Given the description of an element on the screen output the (x, y) to click on. 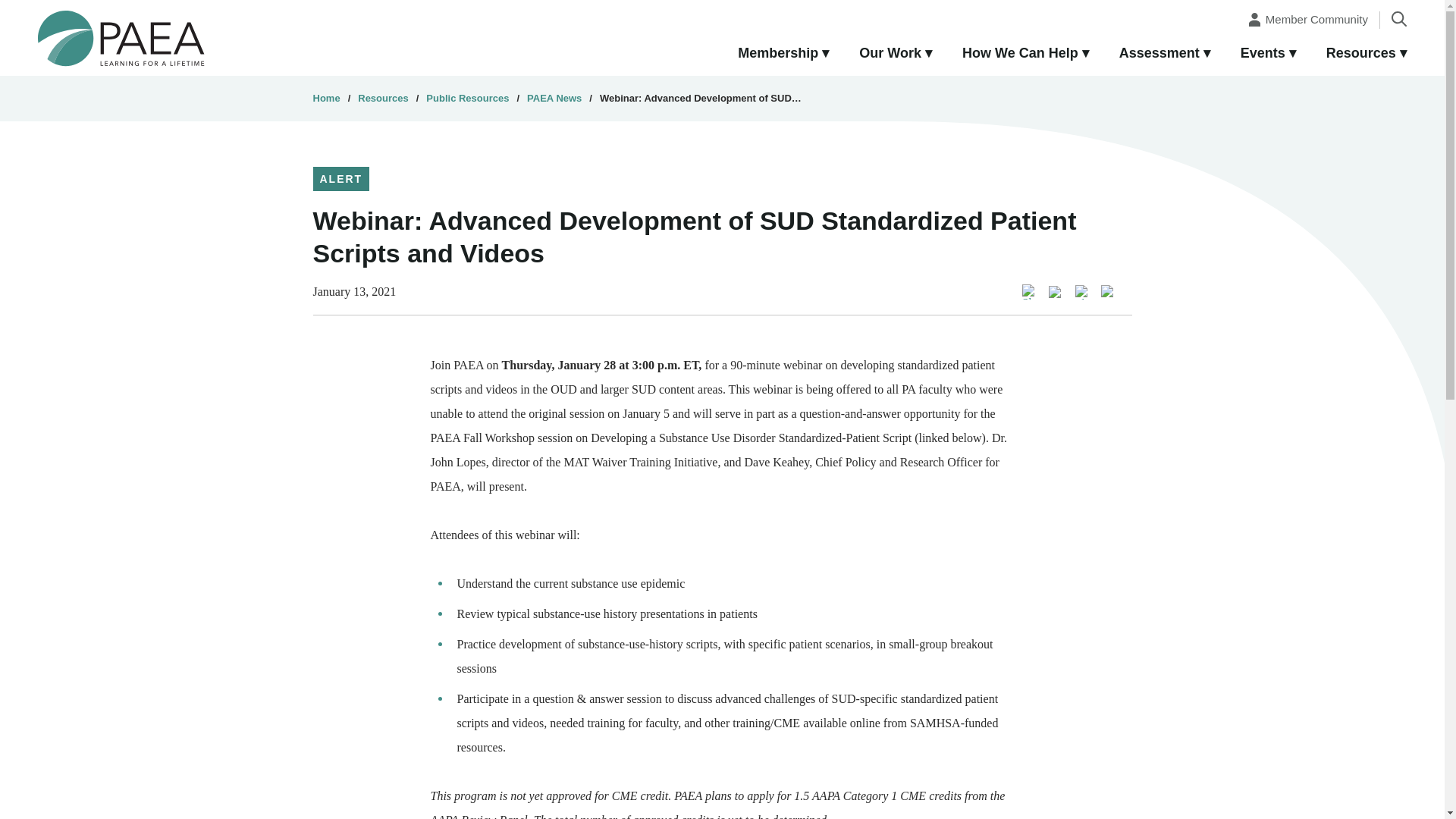
Our Work (895, 53)
homepage (121, 37)
Membership (783, 53)
